Given the description of an element on the screen output the (x, y) to click on. 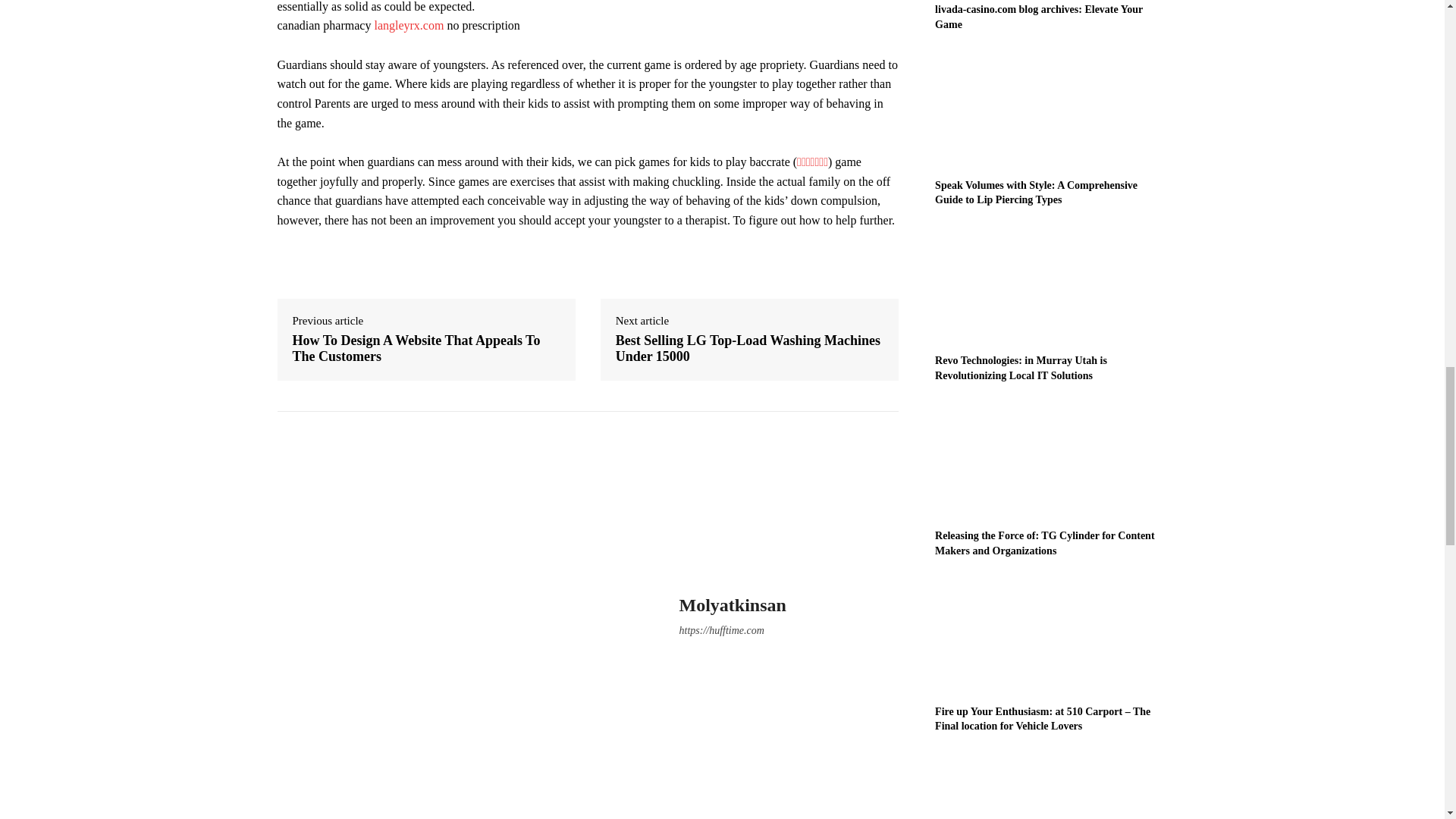
livada-casino.com blog archives: Elevate Your Game (1038, 17)
